Given the description of an element on the screen output the (x, y) to click on. 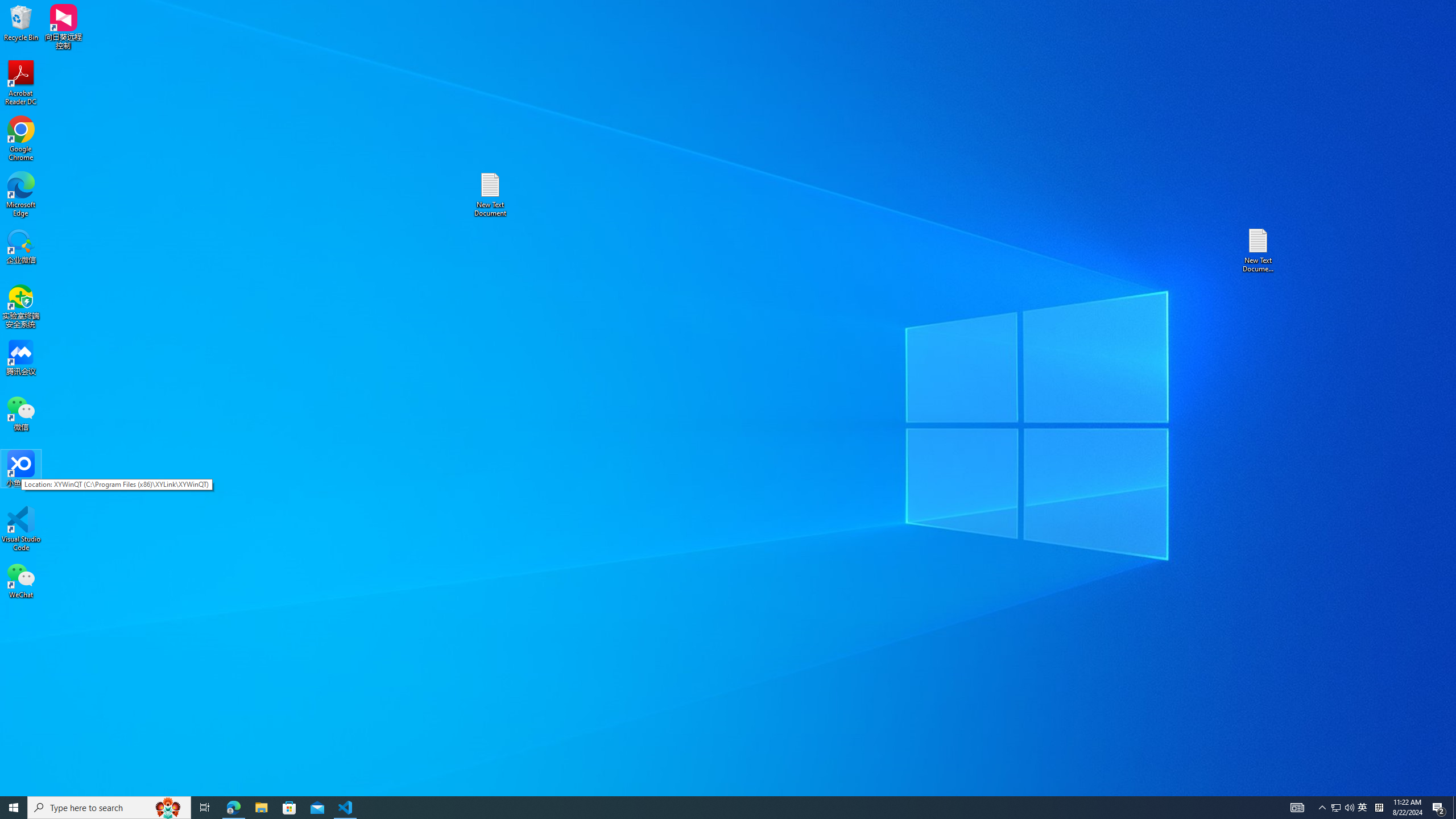
Visual Studio Code (21, 528)
Microsoft Edge (1335, 807)
WeChat (21, 194)
Google Chrome (21, 580)
AutomationID: 4105 (21, 138)
Task View (1297, 807)
Start (204, 807)
Search highlights icon opens search home window (13, 807)
Microsoft Store (167, 807)
